Given the description of an element on the screen output the (x, y) to click on. 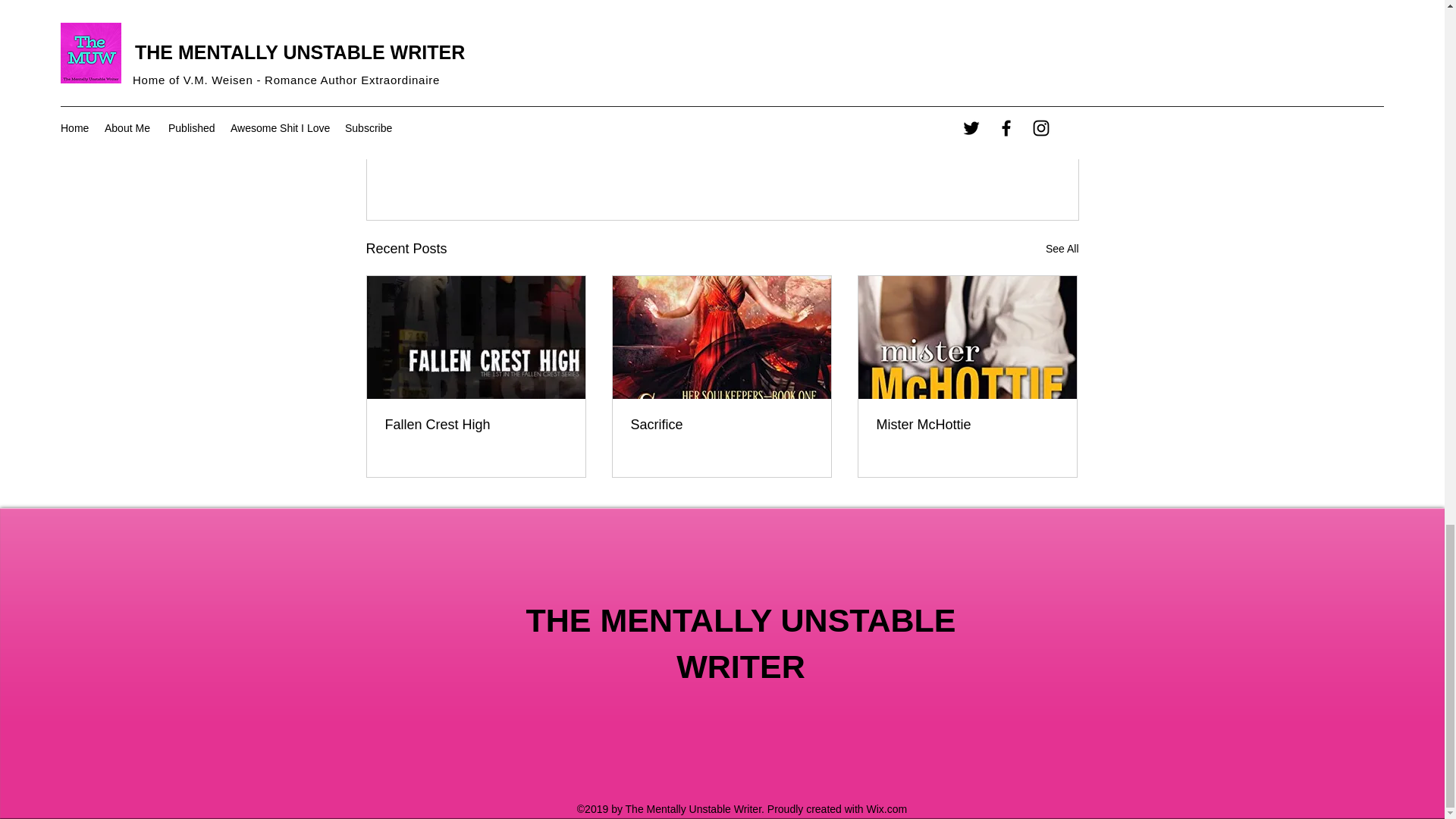
Mister McHottie (967, 424)
See All (1061, 249)
Fallen Crest High (476, 424)
Book Reviews (969, 151)
THE MENTALLY UNSTABLE WRITER (740, 642)
Sacrifice (721, 424)
Son of the Cursed Bear (645, 2)
